Given the description of an element on the screen output the (x, y) to click on. 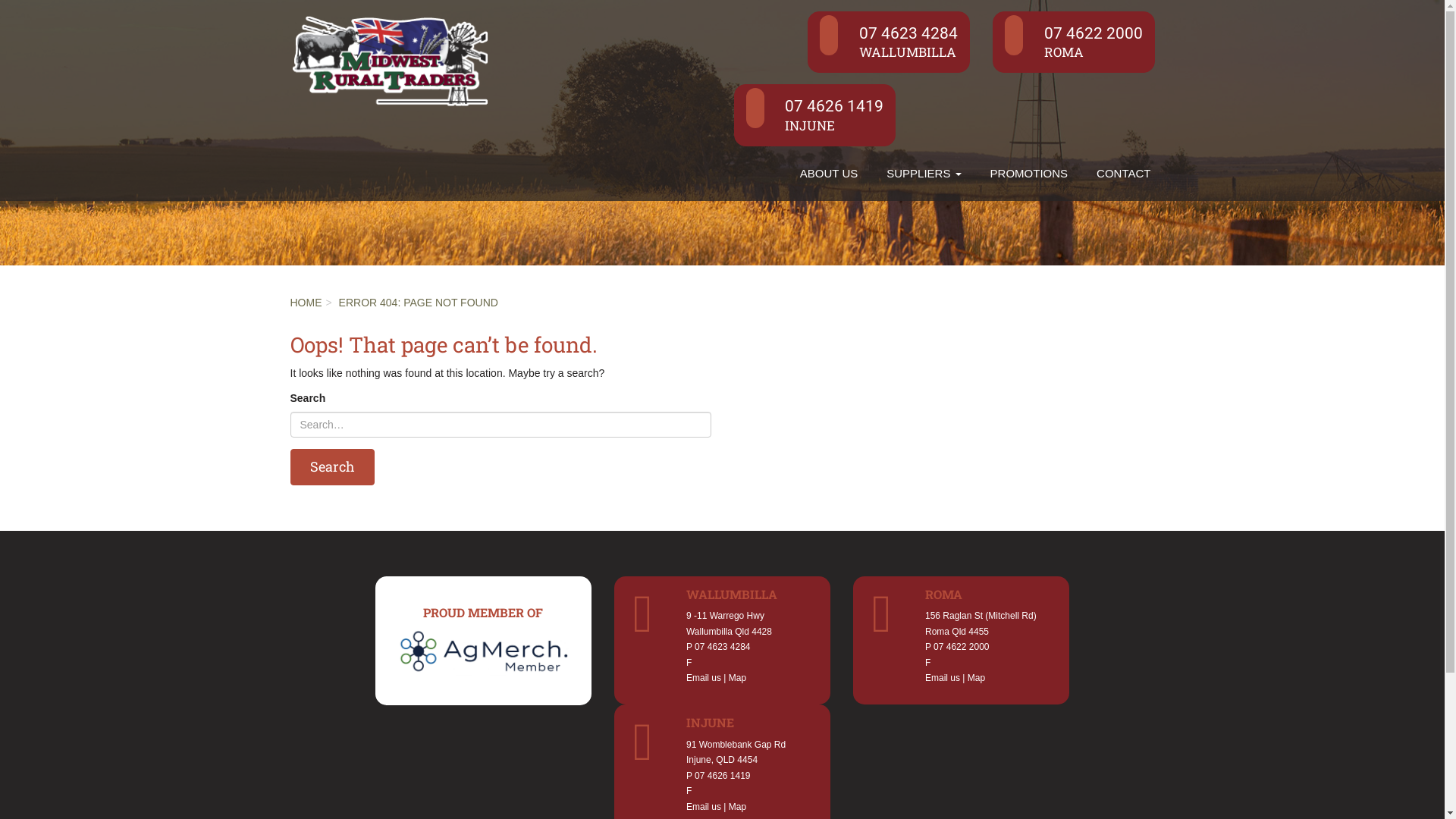
Email us Element type: text (703, 806)
07 4626 1419
INJUNE Element type: text (815, 114)
Search Element type: text (331, 466)
<em class="fa fa-home fa-2x"></em> Element type: hover (770, 161)
Map Element type: text (737, 806)
Map Element type: text (976, 677)
07 4623 4284
WALLUMBILLA Element type: text (888, 41)
SUPPLIERS Element type: text (923, 173)
CONTACT Element type: text (1123, 173)
Midwest Rural Traders home page Element type: hover (389, 57)
ABOUT US Element type: text (828, 173)
Map Element type: text (737, 677)
Email us Element type: text (942, 677)
07 4622 2000
ROMA Element type: text (1073, 41)
HOME Element type: text (305, 302)
PROMOTIONS Element type: text (1028, 173)
Email us Element type: text (703, 677)
